Given the description of an element on the screen output the (x, y) to click on. 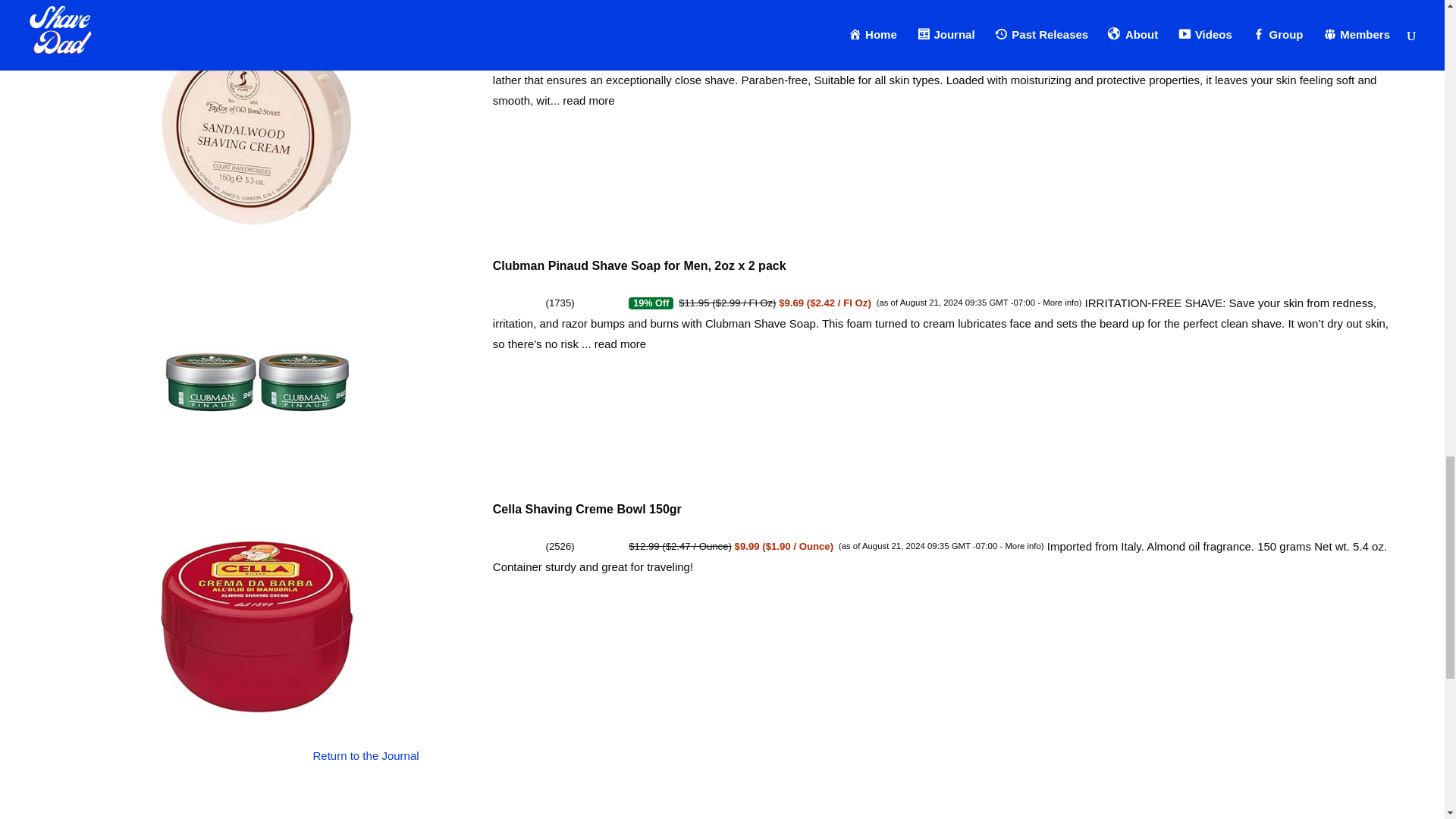
33623 (562, 59)
read more (620, 343)
Cella Shaving Creme Bowl 150gr (587, 508)
More info (1022, 545)
1735 (559, 302)
